Given the description of an element on the screen output the (x, y) to click on. 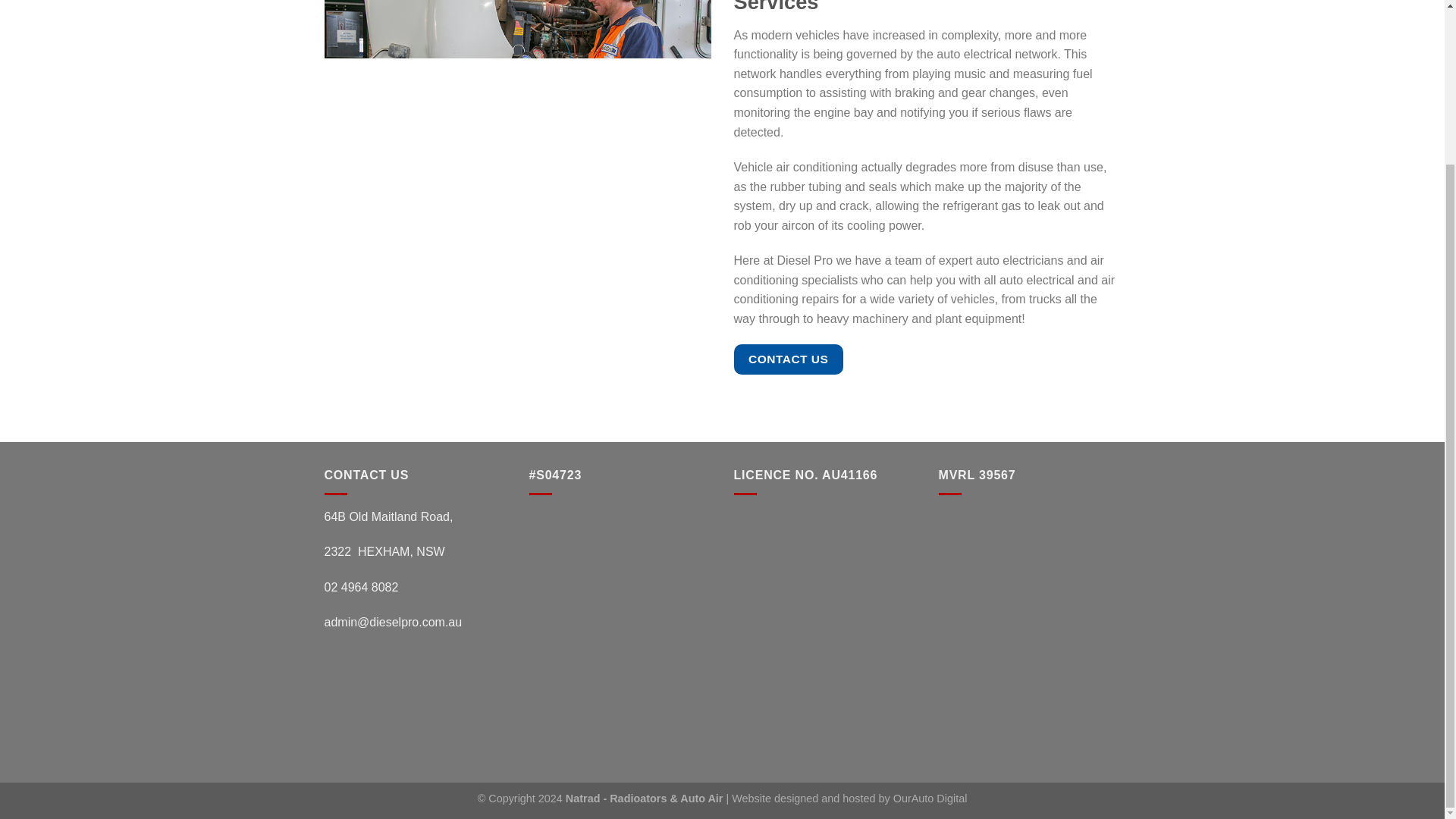
64B Old Maitland Road, (388, 516)
02 4964 8082 (361, 586)
CONTACT US (788, 358)
2322  HEXHAM, NSW (384, 551)
